Given the description of an element on the screen output the (x, y) to click on. 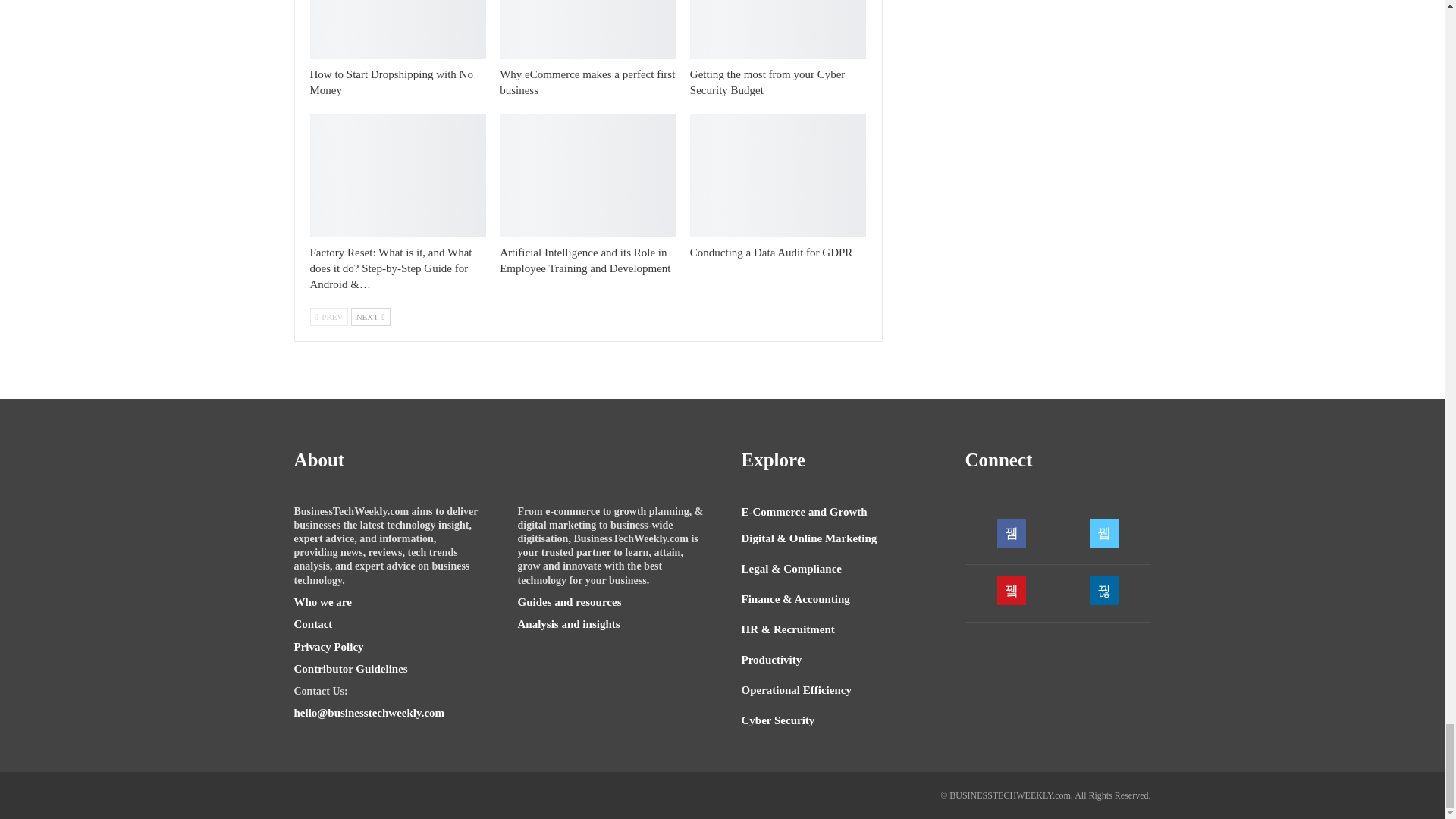
Why eCommerce makes a perfect first business (588, 29)
Getting the most from your Cyber Security Budget (767, 81)
Why eCommerce makes a perfect first business (587, 81)
How to Start Dropshipping with No Money (389, 81)
How to Start Dropshipping with No Money (397, 29)
Conducting a Data Audit for GDPR (778, 175)
Getting the most from your Cyber Security Budget (778, 29)
Next (370, 316)
Previous (327, 316)
Conducting a Data Audit for GDPR (771, 252)
